Given the description of an element on the screen output the (x, y) to click on. 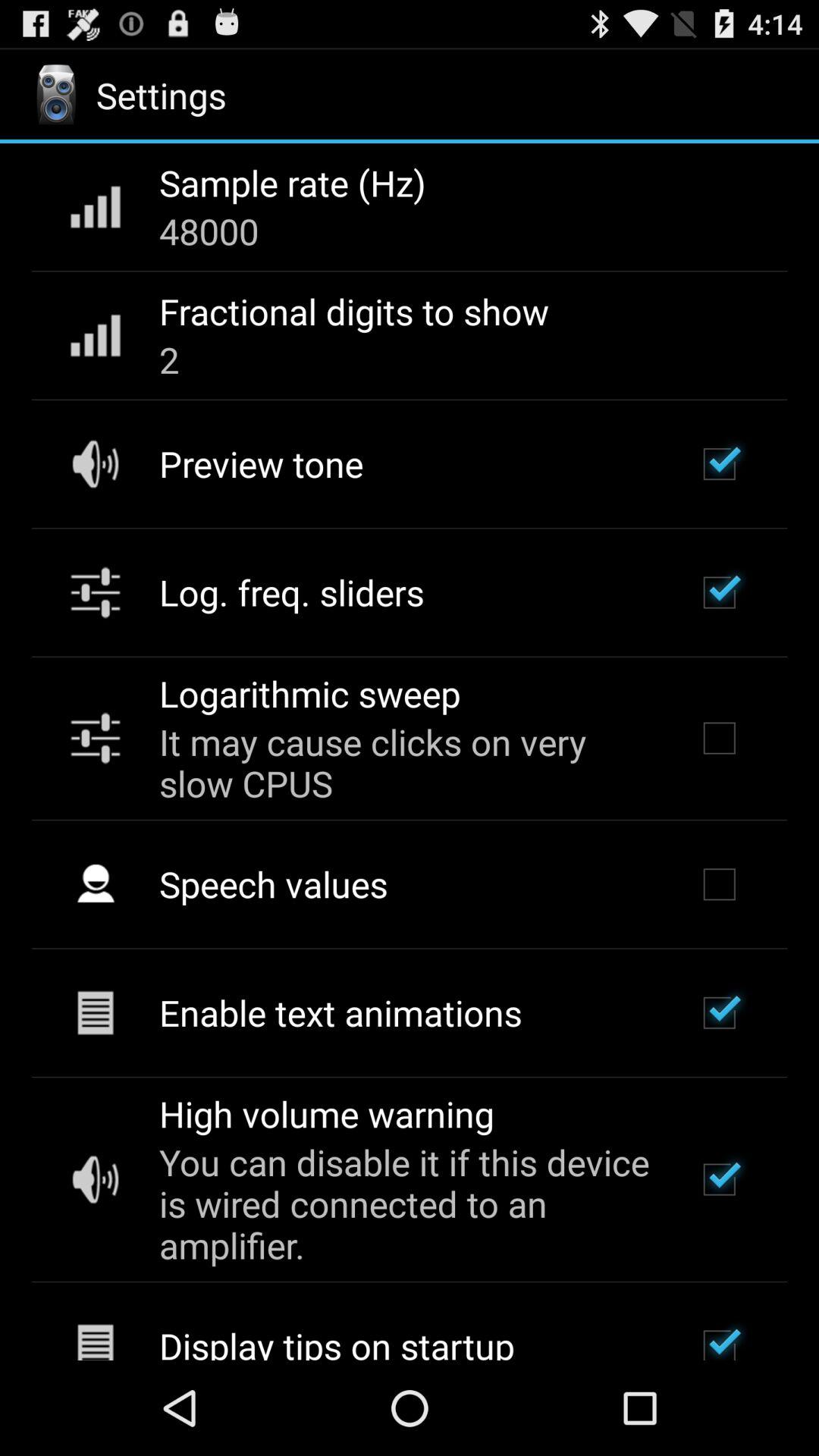
select app below logarithmic sweep item (407, 762)
